Given the description of an element on the screen output the (x, y) to click on. 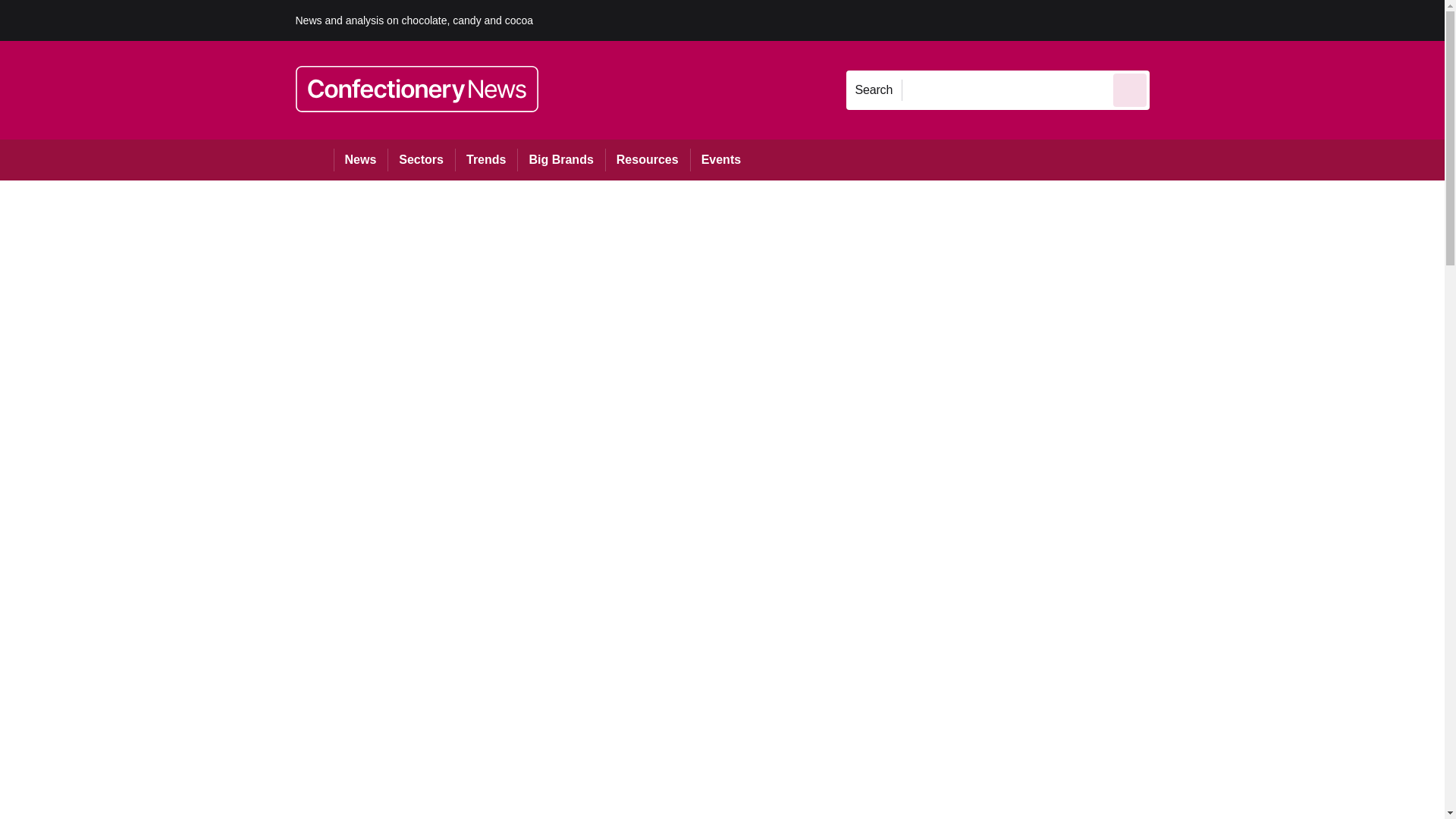
Home (313, 159)
Trends (485, 159)
News (360, 159)
Sign in (1171, 20)
Send (1129, 90)
Sign out (1174, 20)
Sectors (420, 159)
Home (314, 159)
REGISTER (1250, 20)
My account (1256, 20)
